Given the description of an element on the screen output the (x, y) to click on. 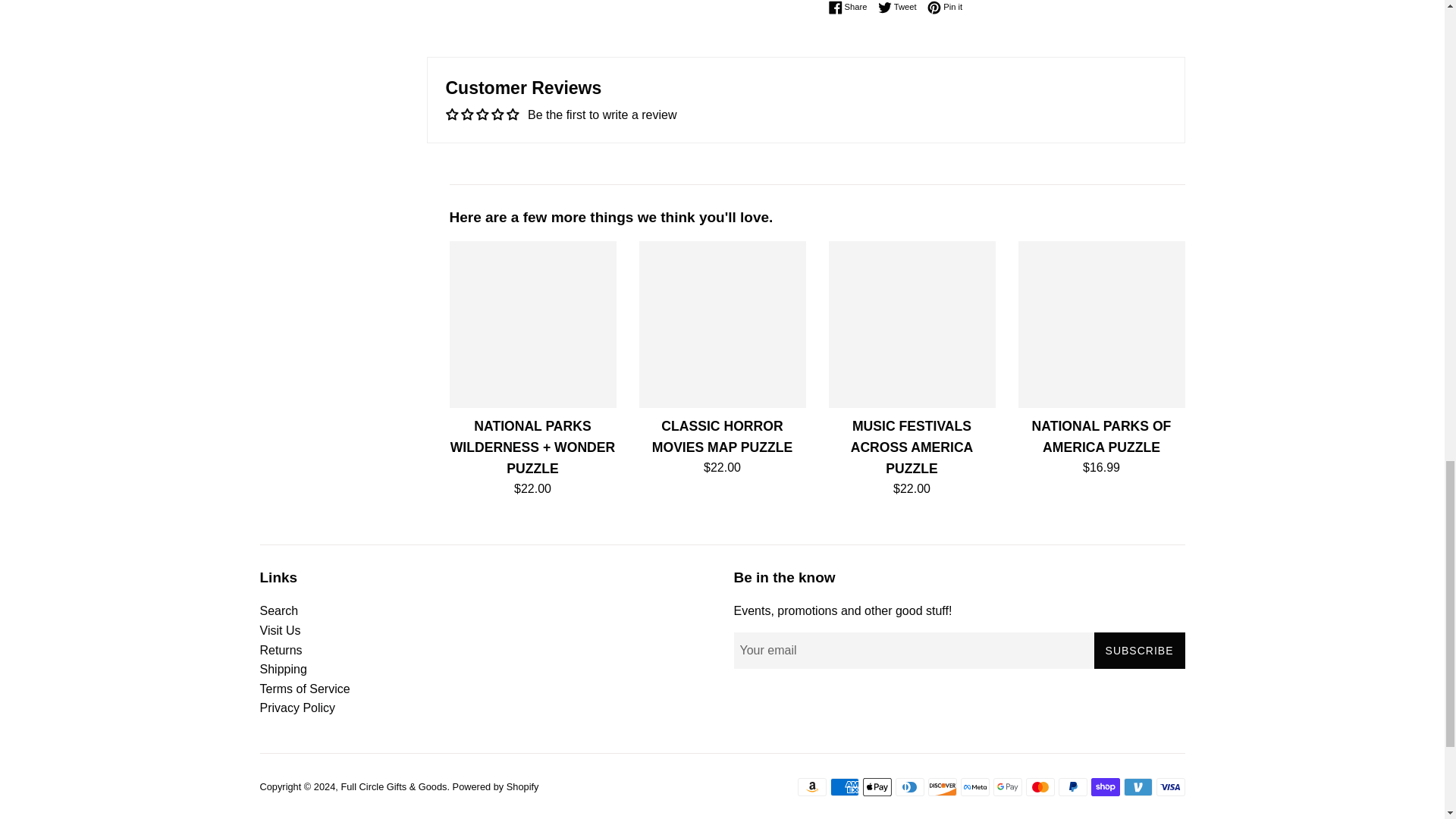
Shop Pay (1104, 787)
Apple Pay (877, 787)
MUSIC FESTIVALS ACROSS AMERICA PUZZLE (911, 323)
PayPal (1072, 787)
Tweet on Twitter (900, 7)
Google Pay (1007, 787)
Meta Pay (973, 787)
Pin on Pinterest (944, 7)
Share on Facebook (851, 7)
Discover (942, 787)
NATIONAL PARKS OF AMERICA PUZZLE (1101, 323)
Diners Club (909, 787)
American Express (844, 787)
CLASSIC HORROR MOVIES MAP PUZZLE (722, 323)
Mastercard (1039, 787)
